Given the description of an element on the screen output the (x, y) to click on. 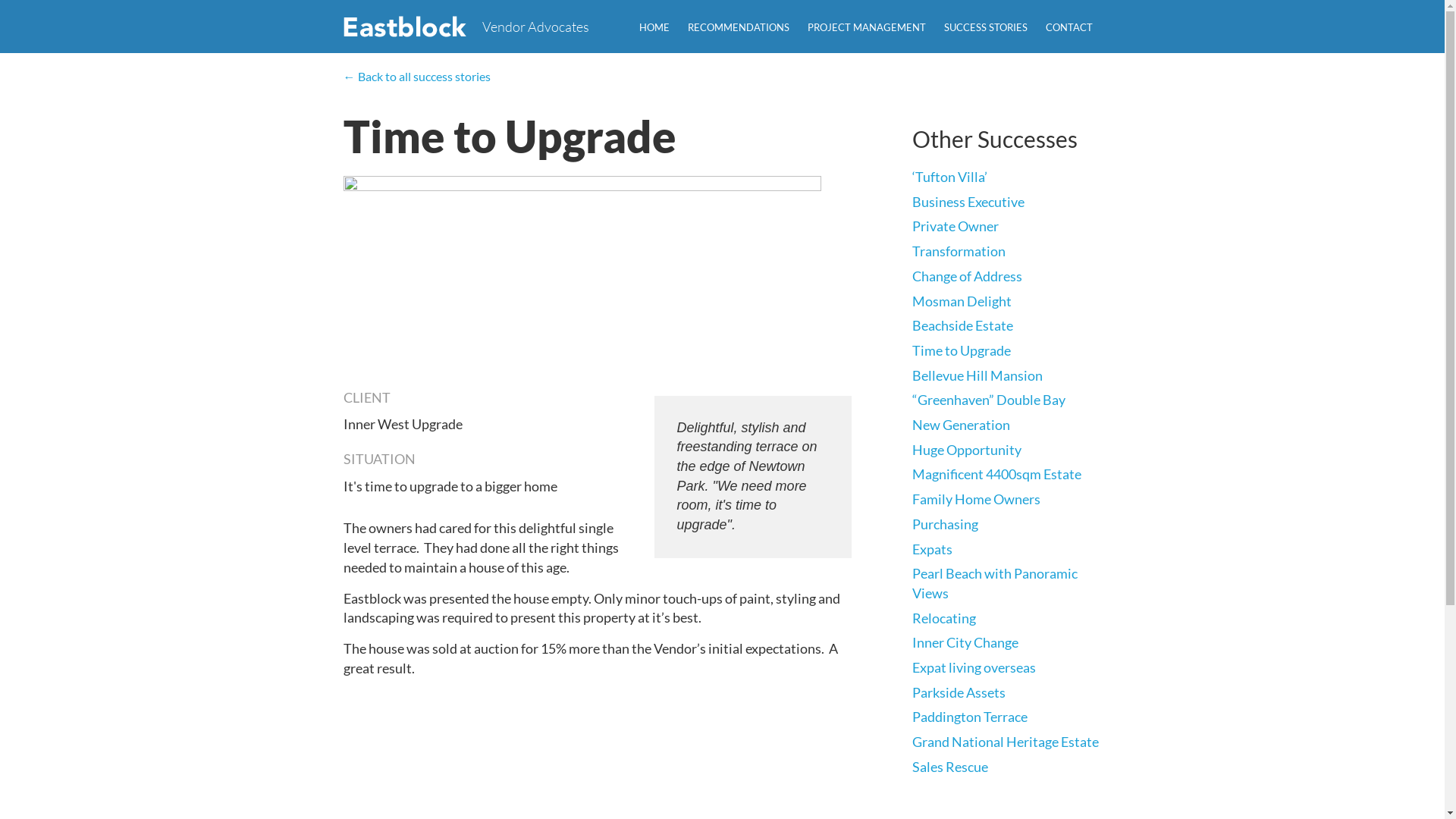
Beachside Estate Element type: text (961, 324)
New Generation Element type: text (960, 424)
Pearl Beach with Panoramic Views Element type: text (993, 582)
Vendor Advocates Element type: text (535, 26)
Expat living overseas Element type: text (973, 666)
Bellevue Hill Mansion Element type: text (976, 375)
PROJECT MANAGEMENT Element type: text (865, 27)
SUCCESS STORIES Element type: text (984, 27)
Mosman Delight Element type: text (960, 300)
Expats Element type: text (931, 548)
HOME Element type: text (653, 27)
Inner City Change Element type: text (964, 641)
Purchasing Element type: text (944, 523)
Business Executive Element type: text (967, 201)
Change of Address Element type: text (966, 275)
Grand National Heritage Estate Element type: text (1004, 741)
Family Home Owners Element type: text (975, 498)
Huge Opportunity Element type: text (965, 449)
RECOMMENDATIONS Element type: text (737, 27)
Parkside Assets Element type: text (957, 692)
Private Owner Element type: text (954, 225)
Time to Upgrade Element type: text (960, 350)
Magnificent 4400sqm Estate Element type: text (995, 473)
Paddington Terrace Element type: text (968, 716)
Sales Rescue Element type: text (949, 766)
Relocating Element type: text (943, 617)
Transformation Element type: text (957, 250)
CONTACT Element type: text (1068, 27)
